Given the description of an element on the screen output the (x, y) to click on. 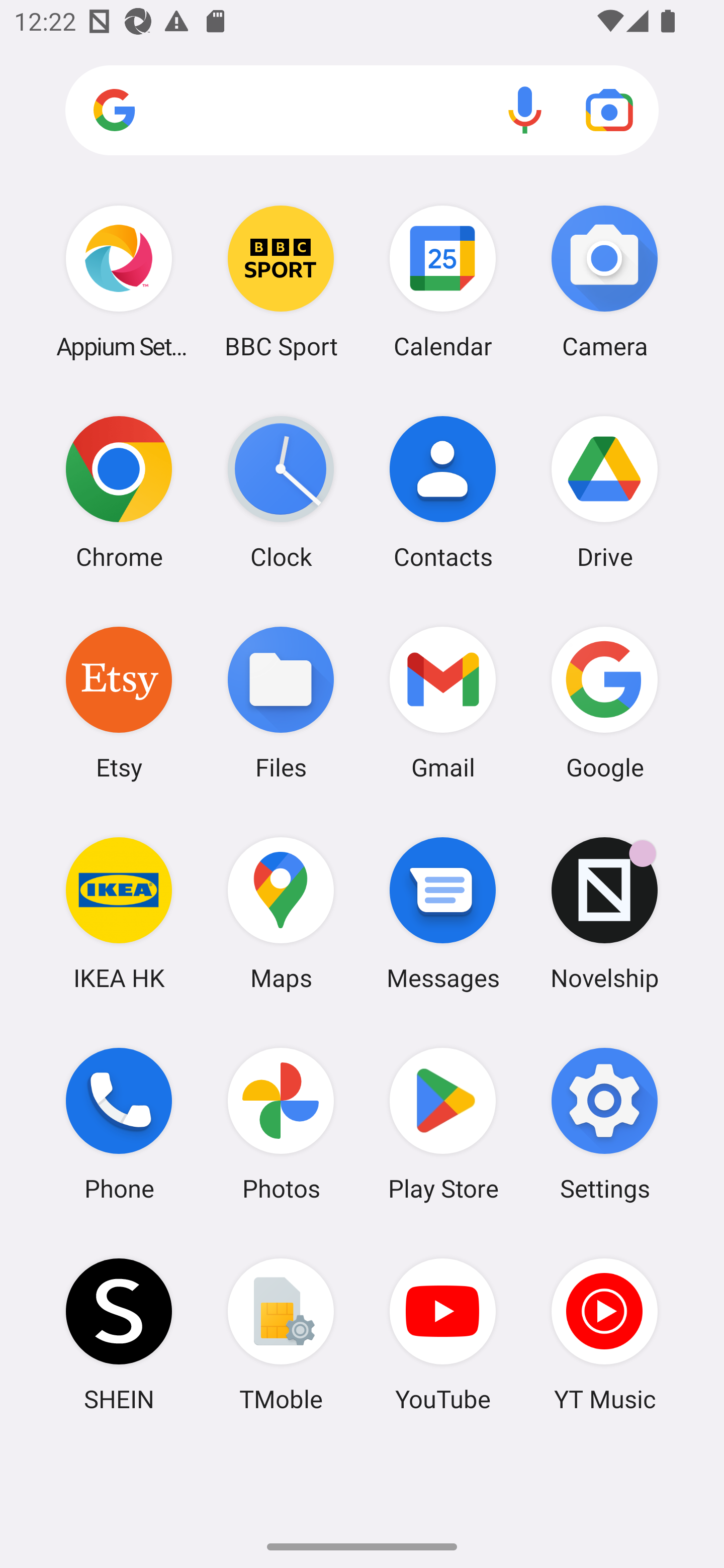
Search apps, web and more (361, 110)
Voice search (524, 109)
Google Lens (608, 109)
Appium Settings (118, 281)
BBC Sport (280, 281)
Calendar (443, 281)
Camera (604, 281)
Chrome (118, 492)
Clock (280, 492)
Contacts (443, 492)
Drive (604, 492)
Etsy (118, 702)
Files (280, 702)
Gmail (443, 702)
Google (604, 702)
IKEA HK (118, 913)
Maps (280, 913)
Messages (443, 913)
Novelship Novelship has 7 notifications (604, 913)
Phone (118, 1124)
Photos (280, 1124)
Play Store (443, 1124)
Settings (604, 1124)
SHEIN (118, 1334)
TMoble (280, 1334)
YouTube (443, 1334)
YT Music (604, 1334)
